Given the description of an element on the screen output the (x, y) to click on. 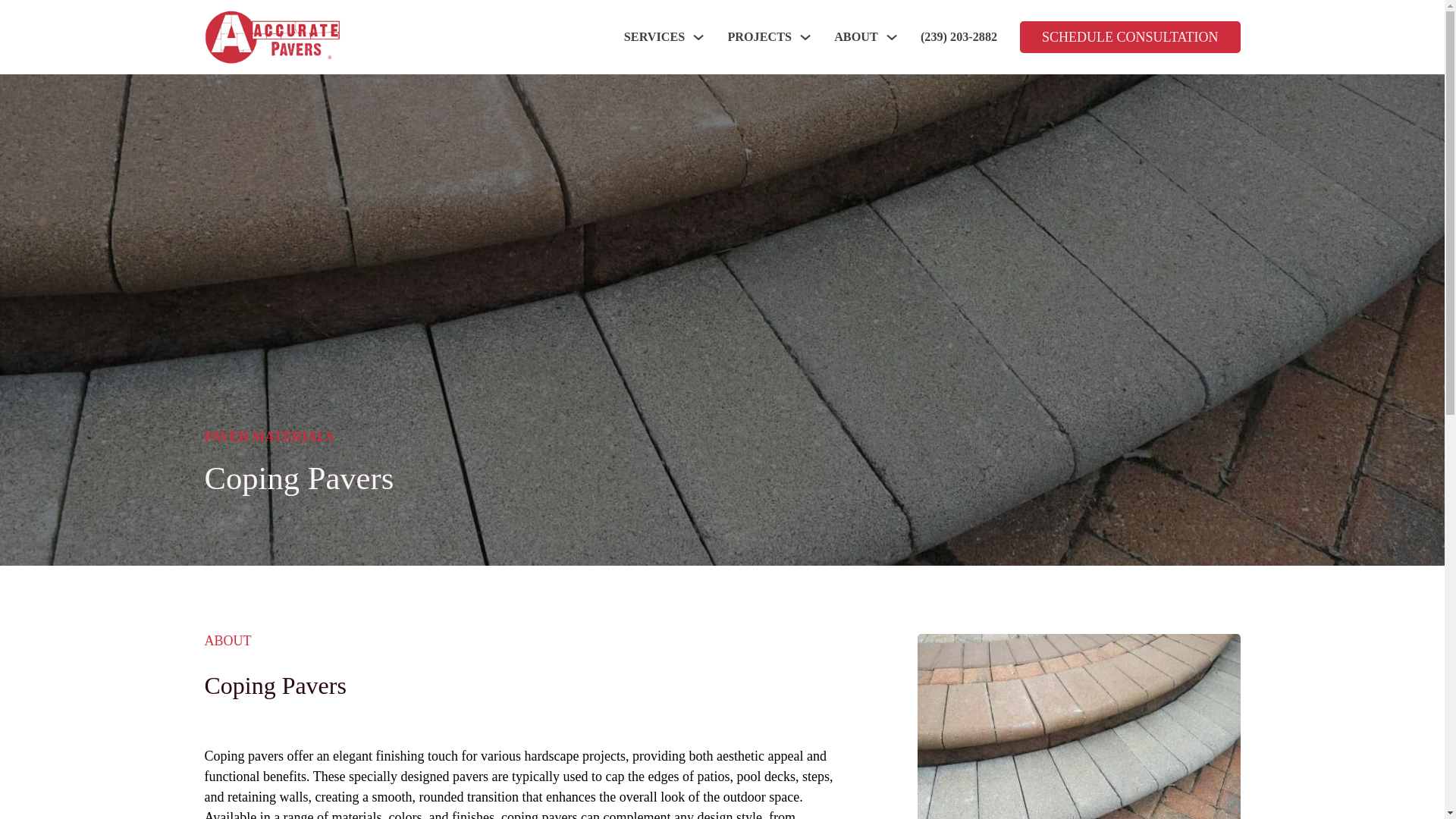
SCHEDULE CONSULTATION (1130, 37)
PROJECTS (759, 36)
SERVICES (654, 36)
ABOUT (855, 36)
